Given the description of an element on the screen output the (x, y) to click on. 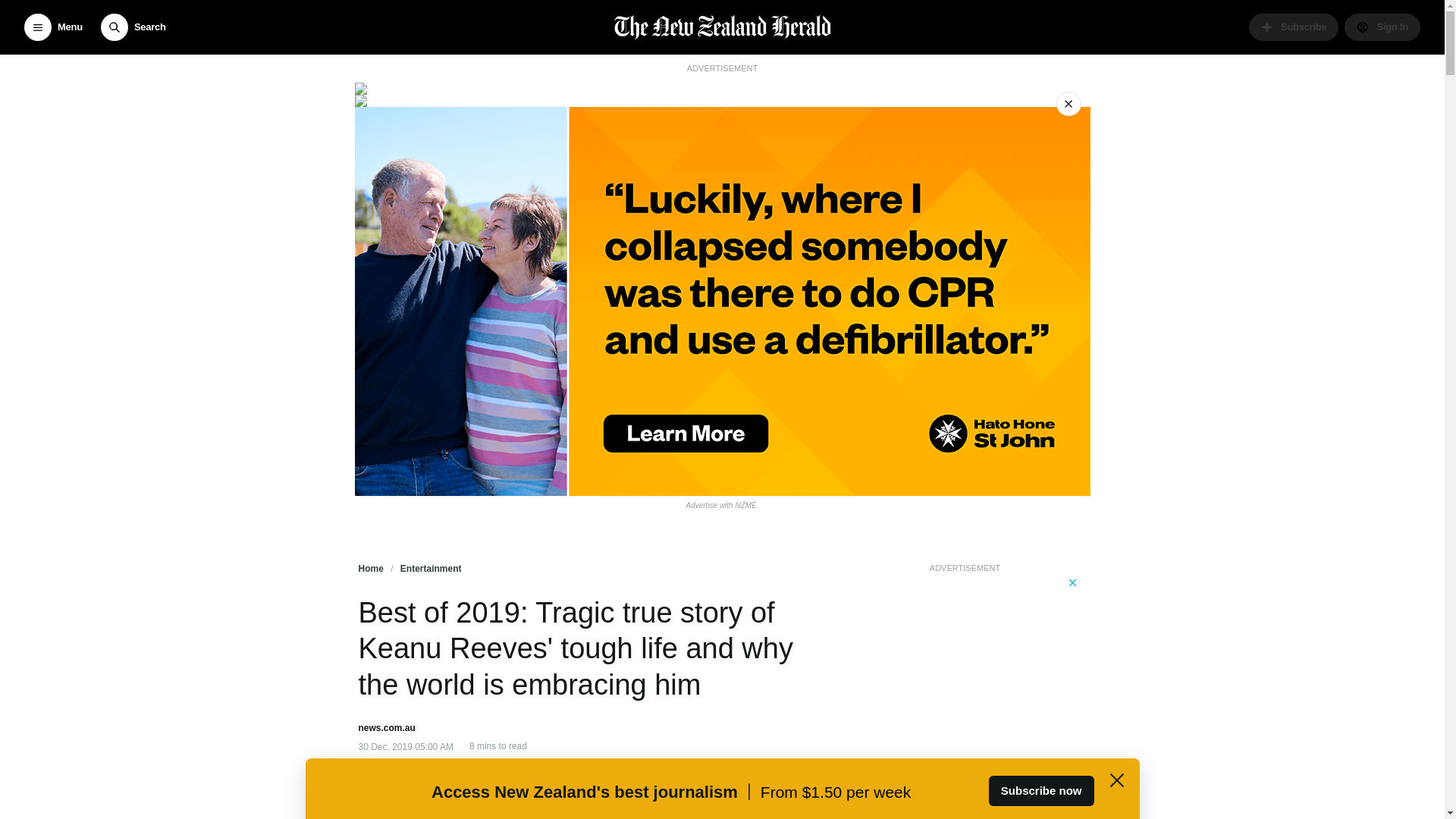
Menu (53, 26)
Sign In (1382, 26)
Subscribe (1294, 26)
Manage your account (1382, 26)
Search (132, 26)
